Given the description of an element on the screen output the (x, y) to click on. 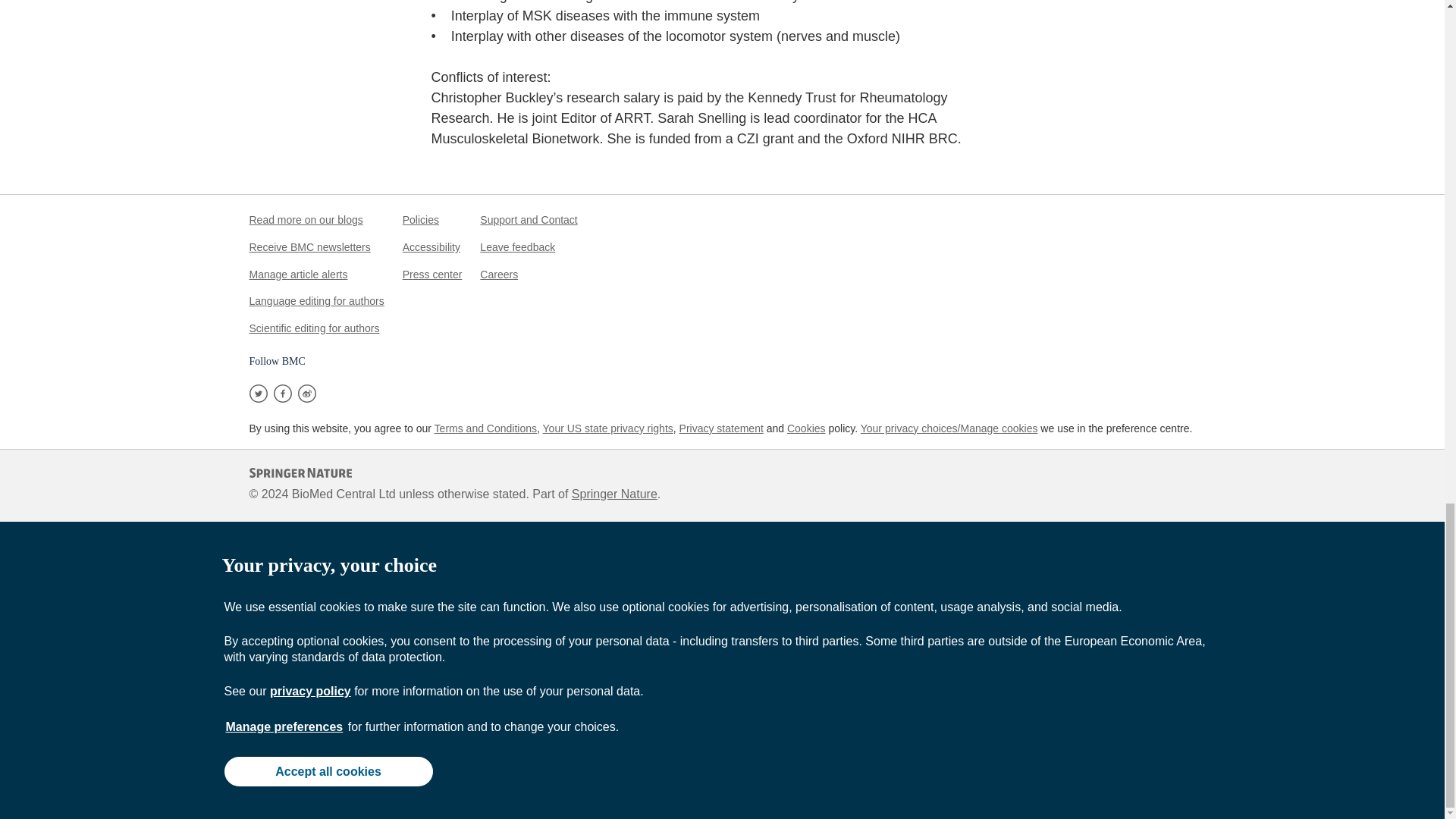
Language editing for authors (316, 300)
Policies (421, 219)
Accessibility (431, 246)
Manage article alerts (297, 274)
Receive BMC newsletters (308, 246)
Read more on our blogs (305, 219)
Scientific editing for authors (313, 328)
